Given the description of an element on the screen output the (x, y) to click on. 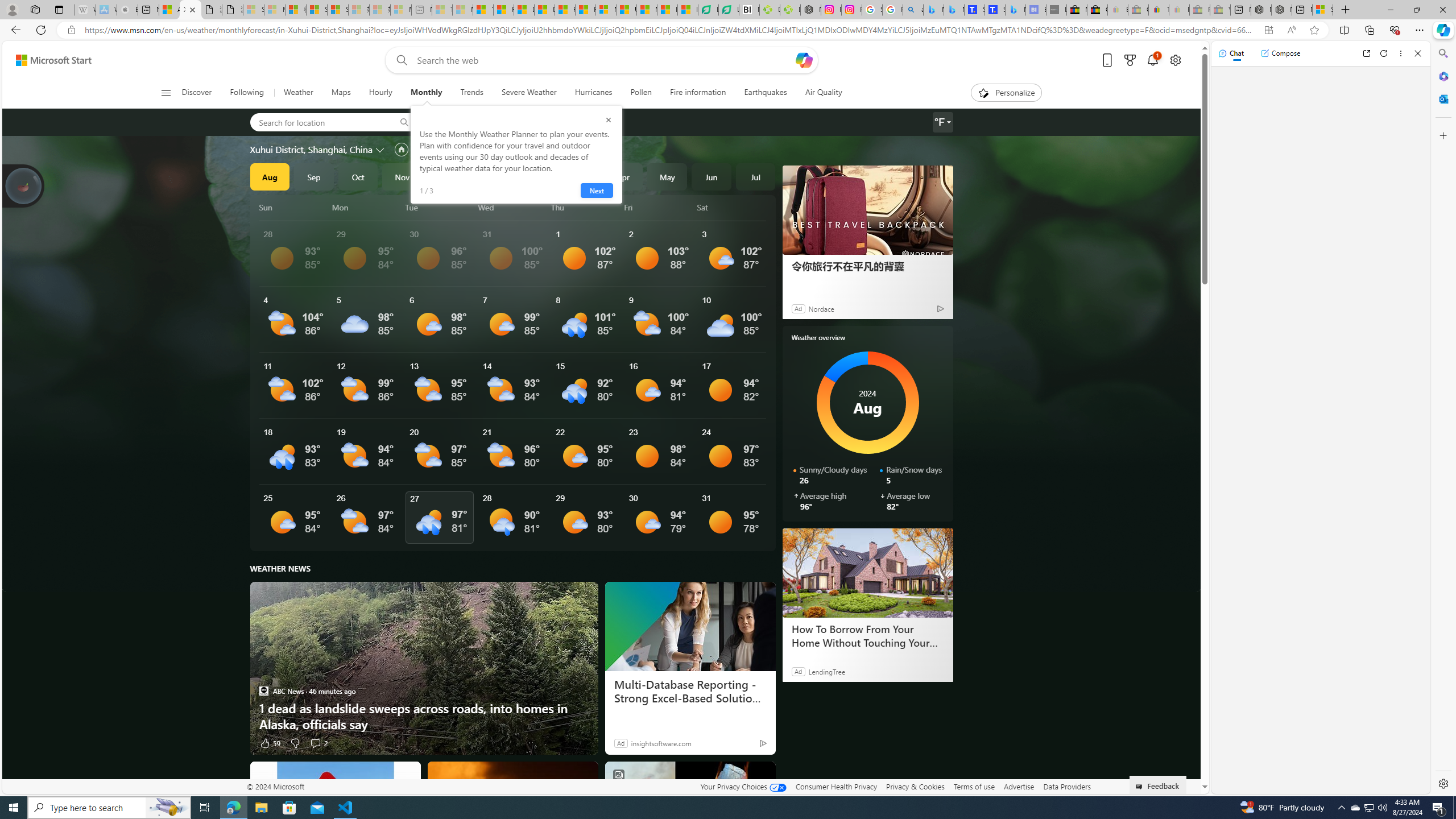
insightsoftware.com (660, 742)
Fire information (698, 92)
Xuhui District, Shanghai, China (310, 149)
Trends (471, 92)
Monthly (425, 92)
Fire information (697, 92)
Hurricanes (593, 92)
